Given the description of an element on the screen output the (x, y) to click on. 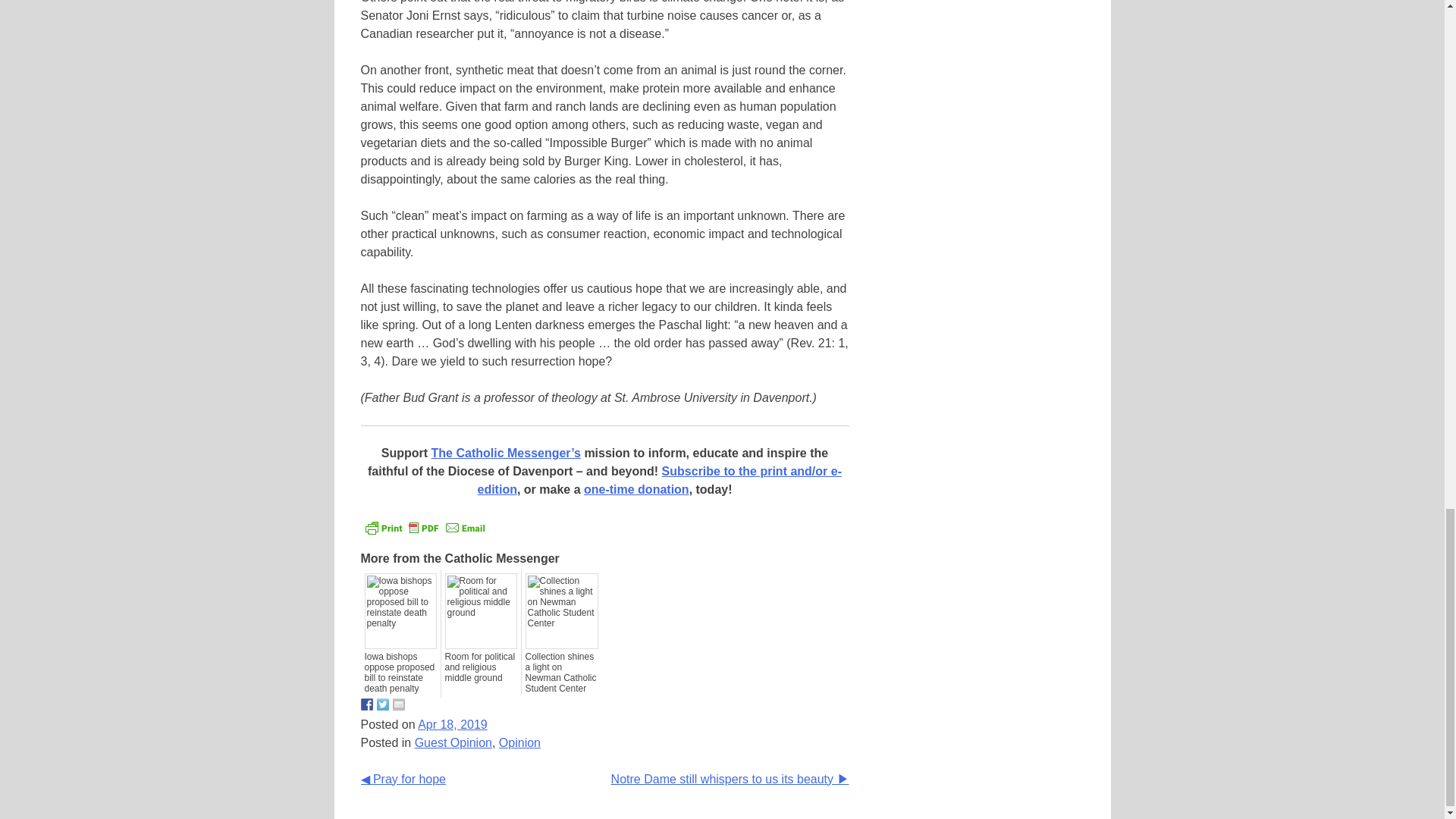
Share on Twitter (381, 704)
Share on Facebook (366, 704)
Share by email (398, 704)
